Given the description of an element on the screen output the (x, y) to click on. 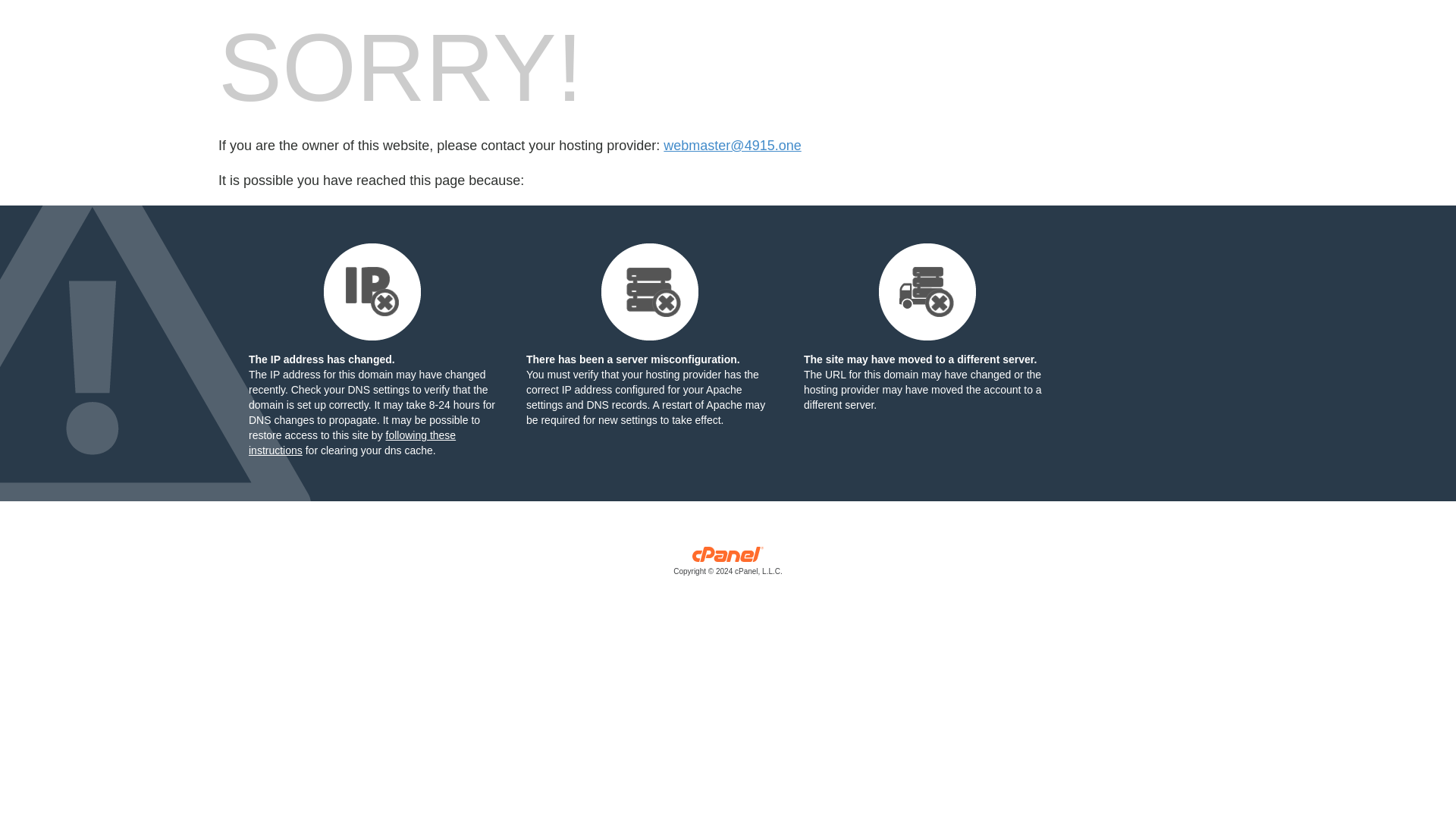
Click this link to contact the host (731, 145)
following these instructions (351, 442)
cPanel, L.L.C. (727, 564)
